Given the description of an element on the screen output the (x, y) to click on. 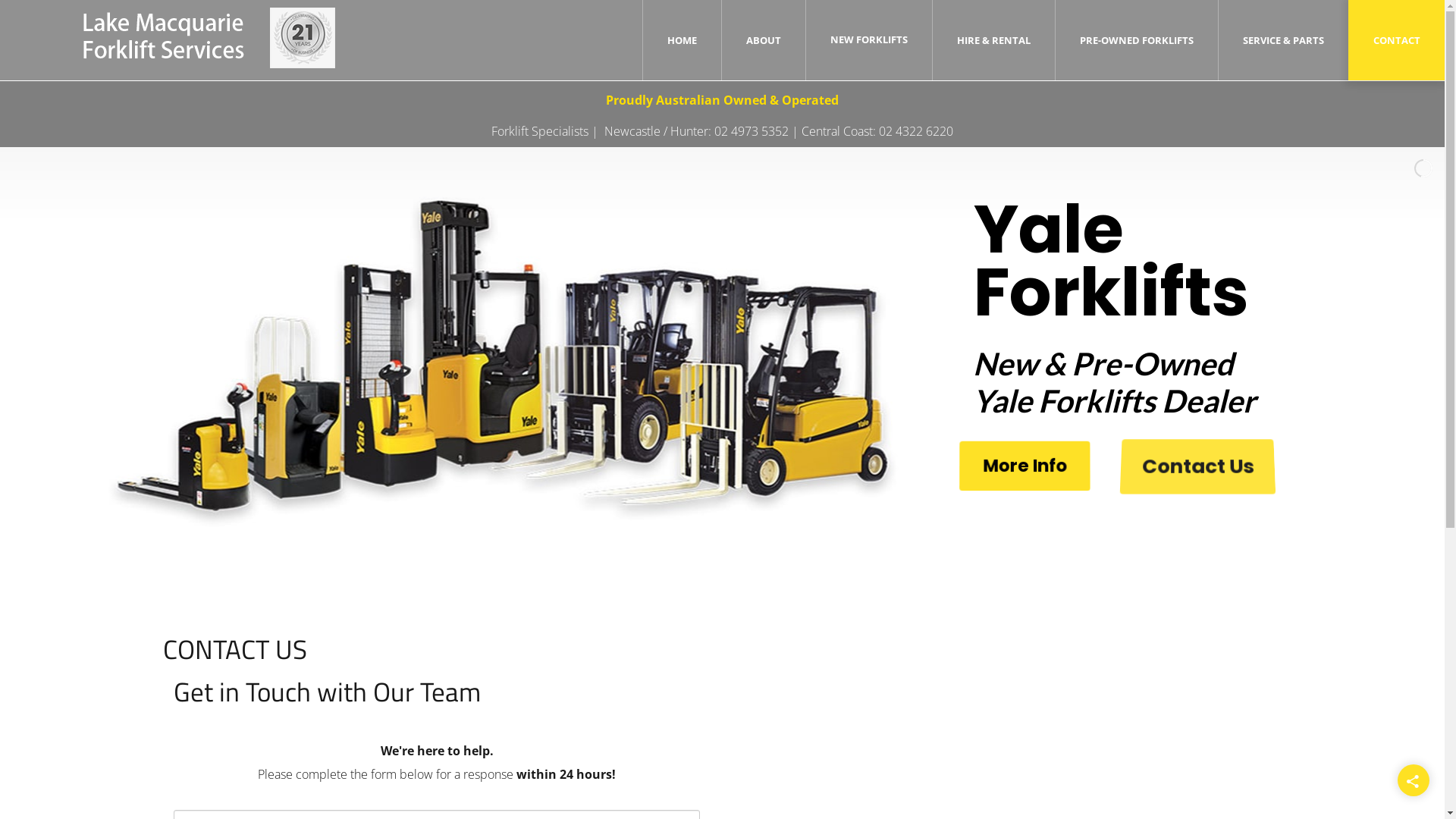
02 4973 5352 Element type: text (751, 130)
NEW FORKLIFTS Element type: text (868, 39)
HOME Element type: text (681, 40)
SERVICE & PARTS Element type: text (1283, 40)
PRE-OWNED FORKLIFTS Element type: text (1136, 40)
02 4322 6220 Element type: text (915, 130)
CONTACT Element type: text (1396, 40)
ABOUT Element type: text (763, 40)
HIRE & RENTAL Element type: text (993, 40)
NEW FORKLIFTS Element type: text (868, 39)
